Given the description of an element on the screen output the (x, y) to click on. 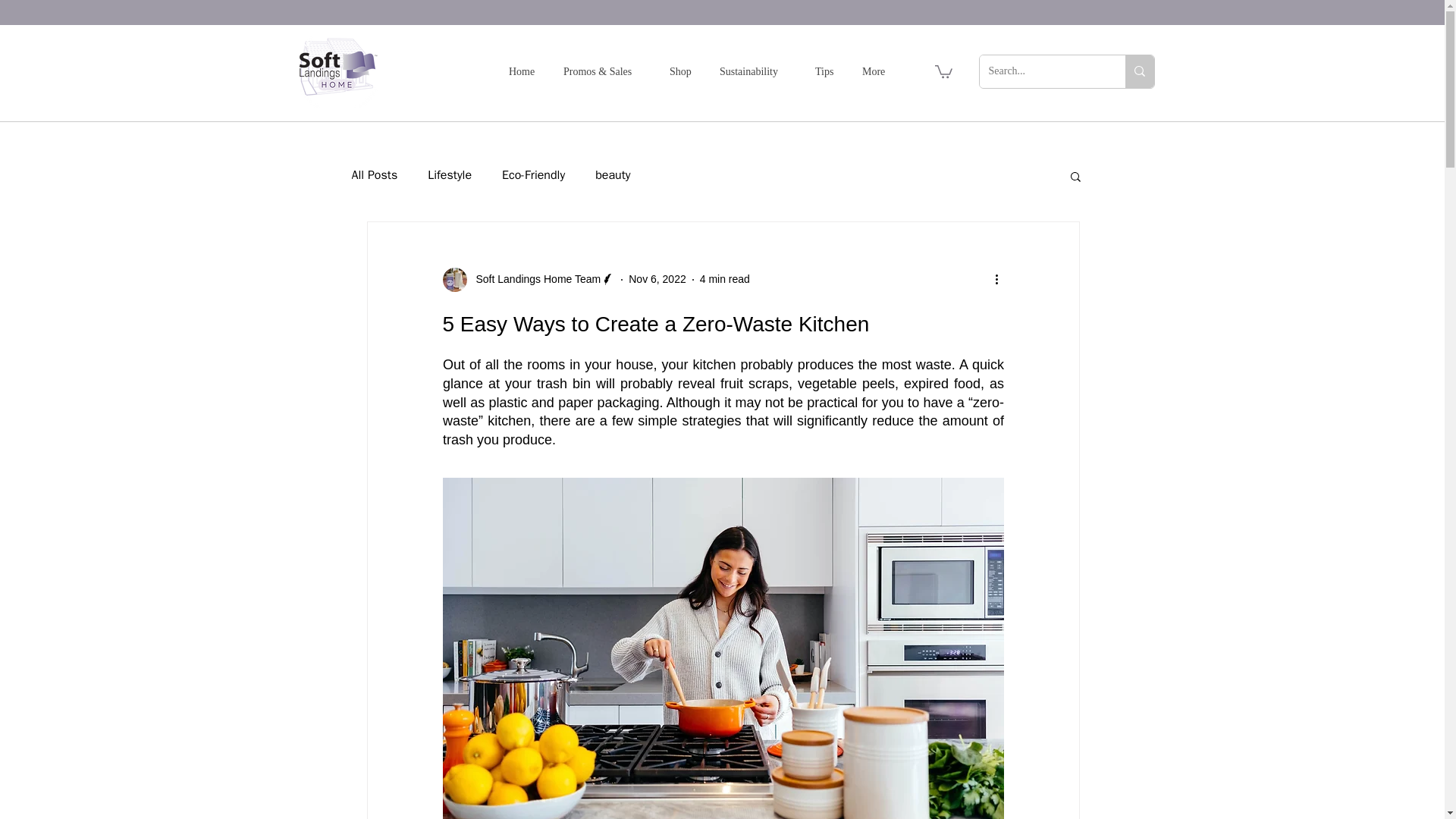
Nov 6, 2022 (656, 278)
Soft Landings Home Team (528, 279)
beauty (612, 175)
Tips (826, 71)
Sustainability (755, 71)
Eco-Friendly (533, 175)
Soft Landings Home Team (534, 279)
4 min read (724, 278)
Shop (682, 71)
Home (523, 71)
